Given the description of an element on the screen output the (x, y) to click on. 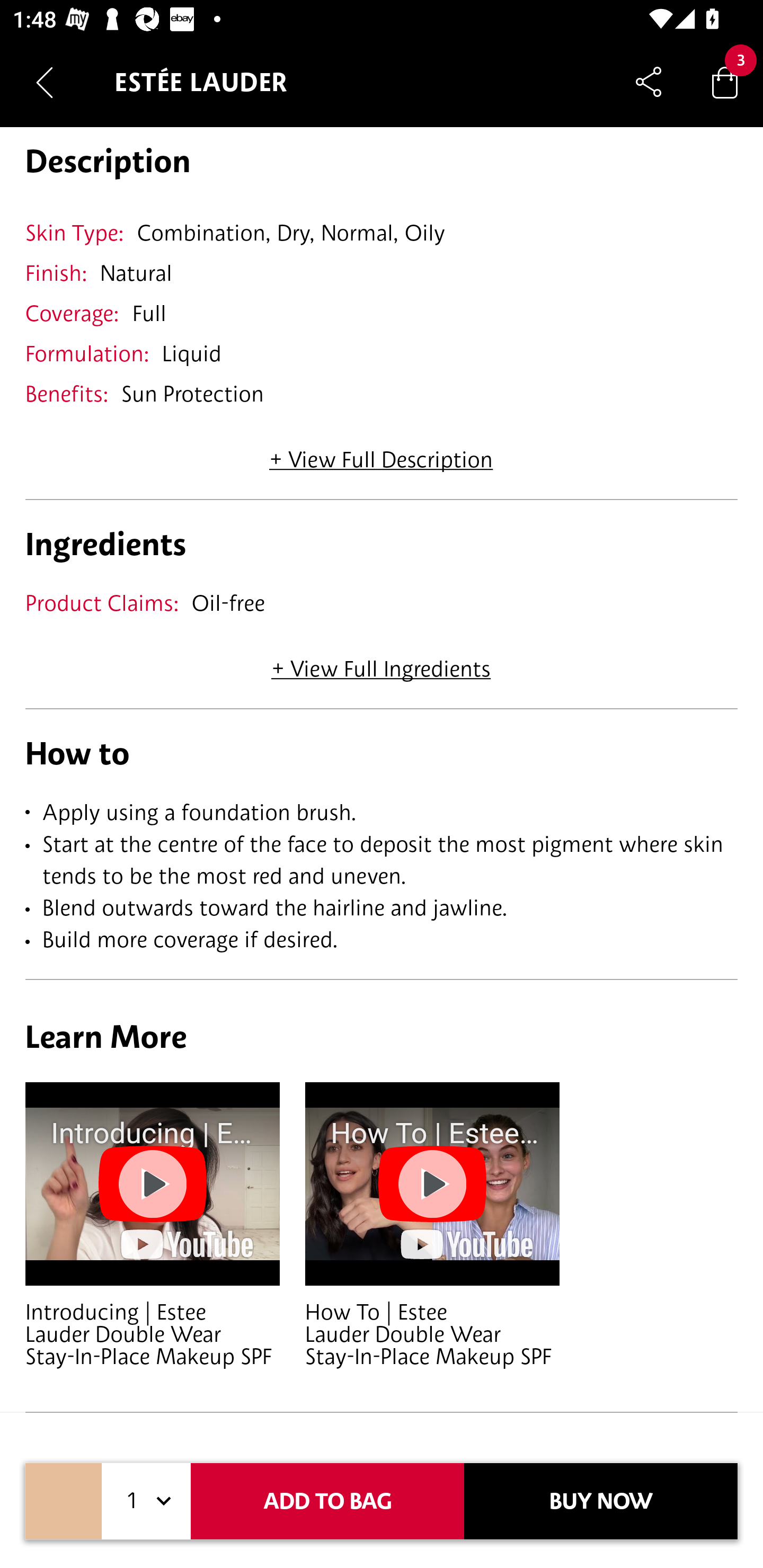
Navigate up (44, 82)
Share (648, 81)
Bag (724, 81)
+ View Full Description (380, 452)
+ View Full Ingredients (380, 662)
1 (145, 1500)
ADD TO BAG (326, 1500)
BUY NOW (600, 1500)
